Given the description of an element on the screen output the (x, y) to click on. 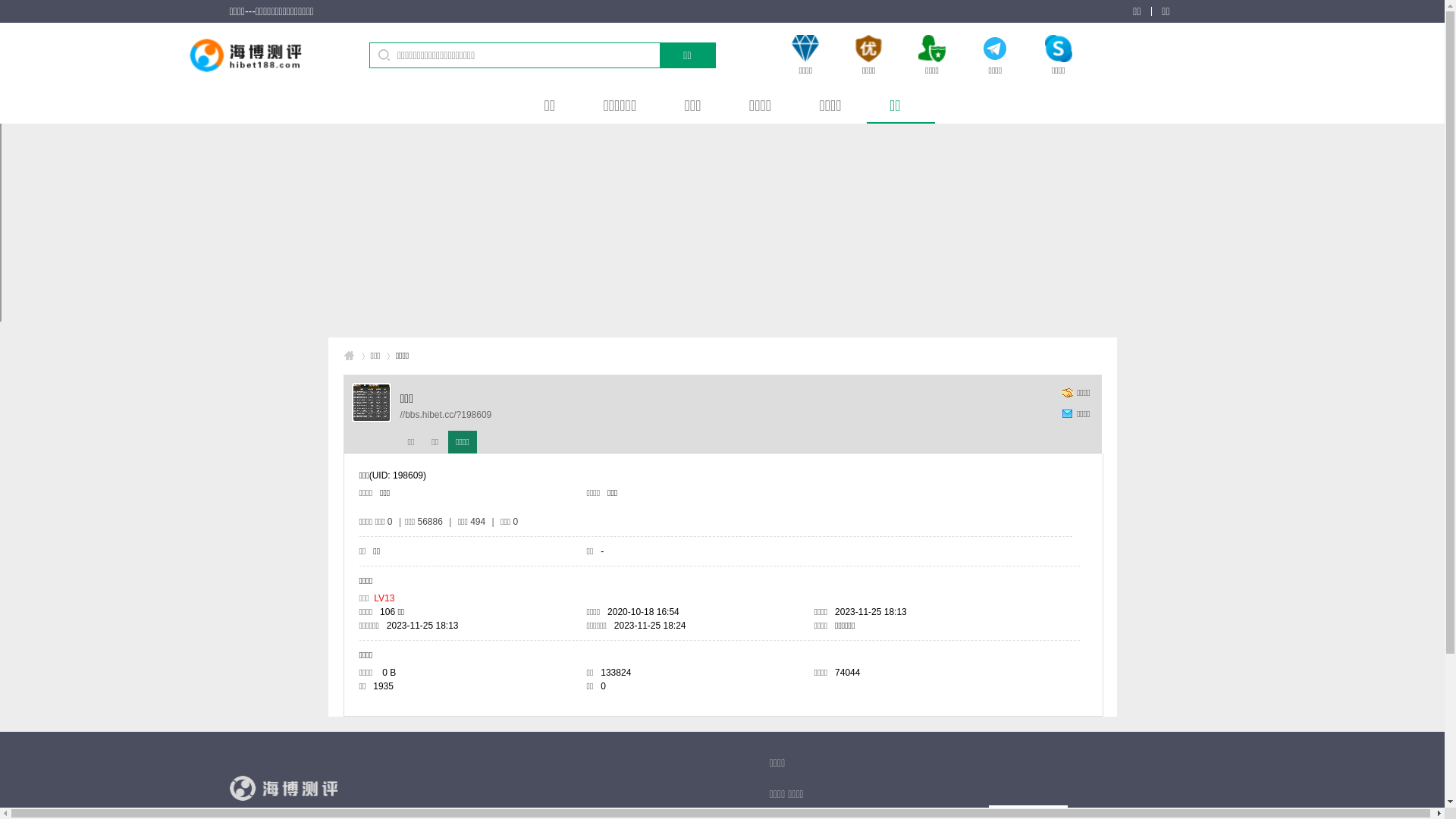
//bbs.hibet.cc/?198609 Element type: text (446, 414)
LV13 Element type: text (383, 598)
